Given the description of an element on the screen output the (x, y) to click on. 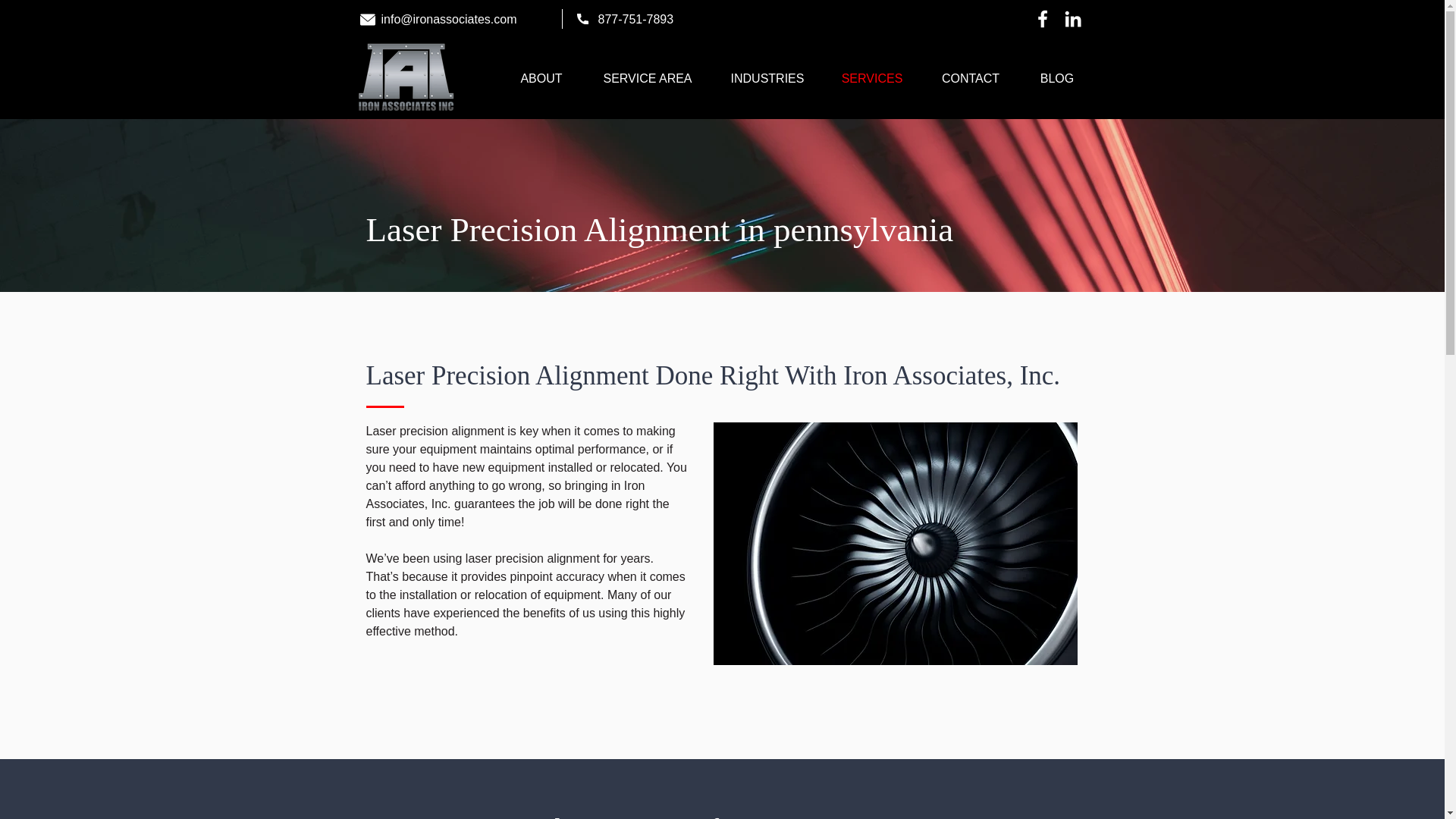
BLOG (1057, 78)
SERVICE AREA (647, 78)
CONTACT (970, 78)
877-751-7893 (634, 19)
ABOUT (541, 78)
SERVICES (872, 78)
